Given the description of an element on the screen output the (x, y) to click on. 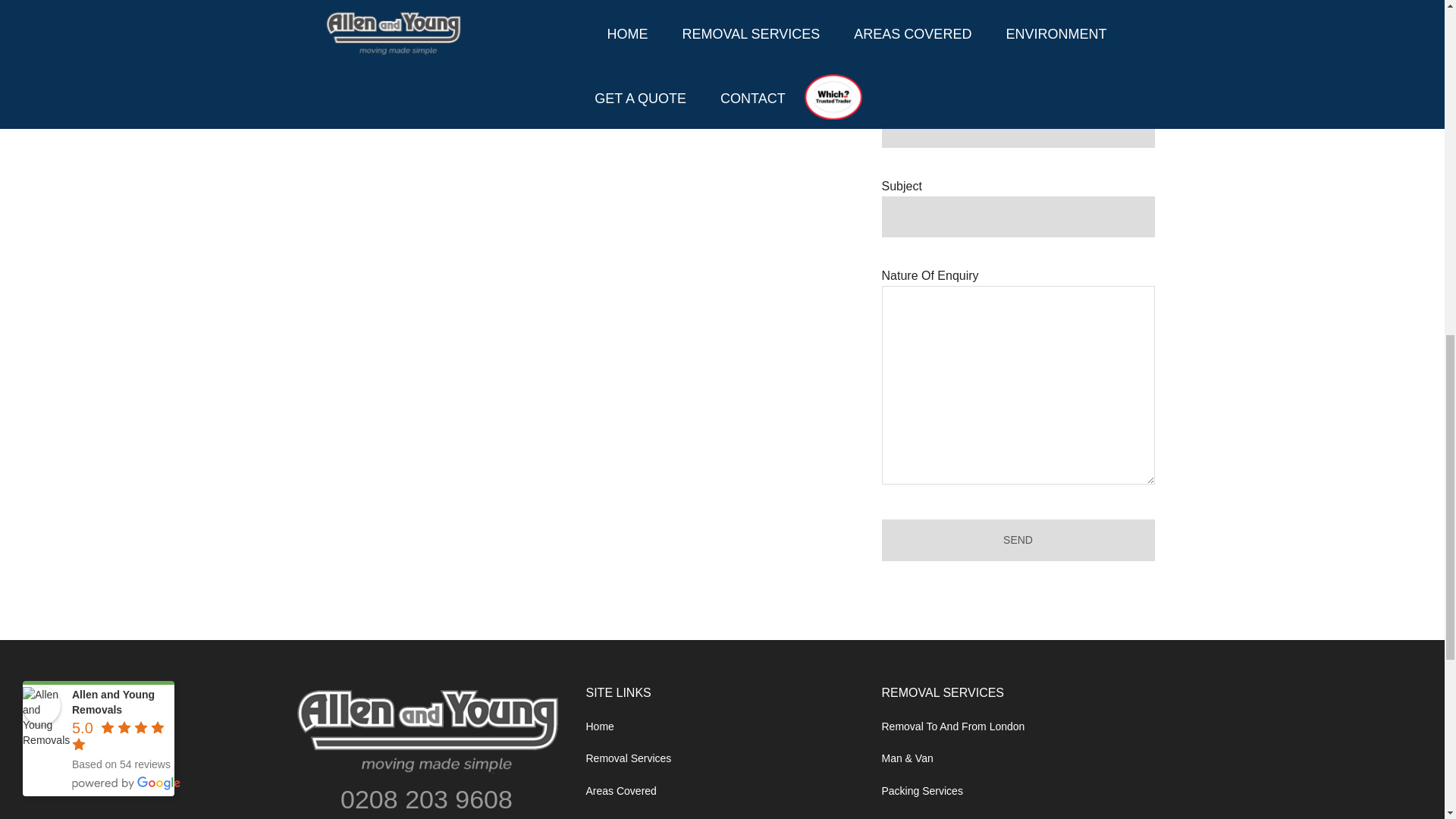
Camden Schools (335, 110)
Camden Council (333, 80)
Send (1017, 540)
